Given the description of an element on the screen output the (x, y) to click on. 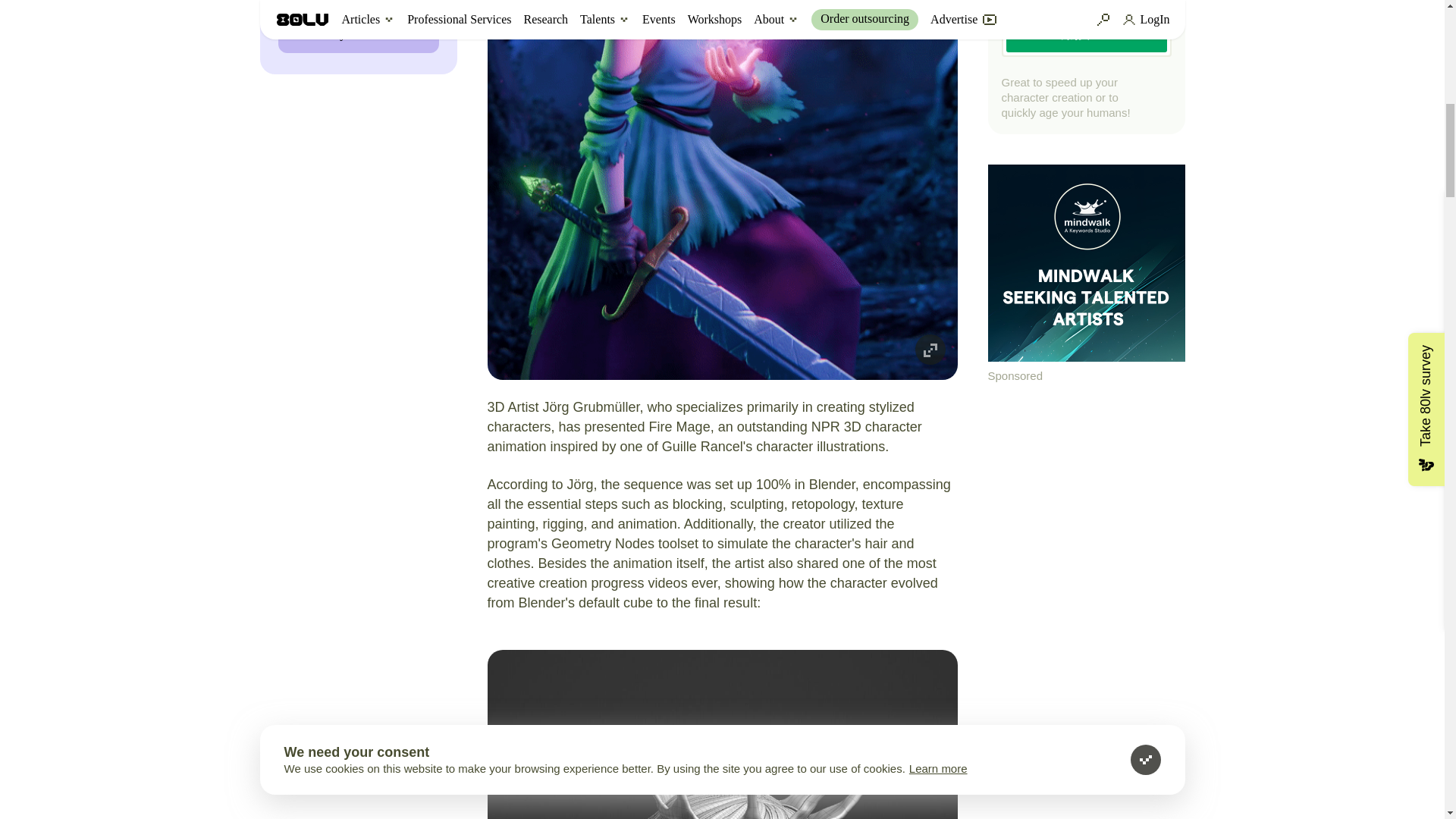
Buy Metasite (358, 34)
Sponsored (1086, 274)
